Given the description of an element on the screen output the (x, y) to click on. 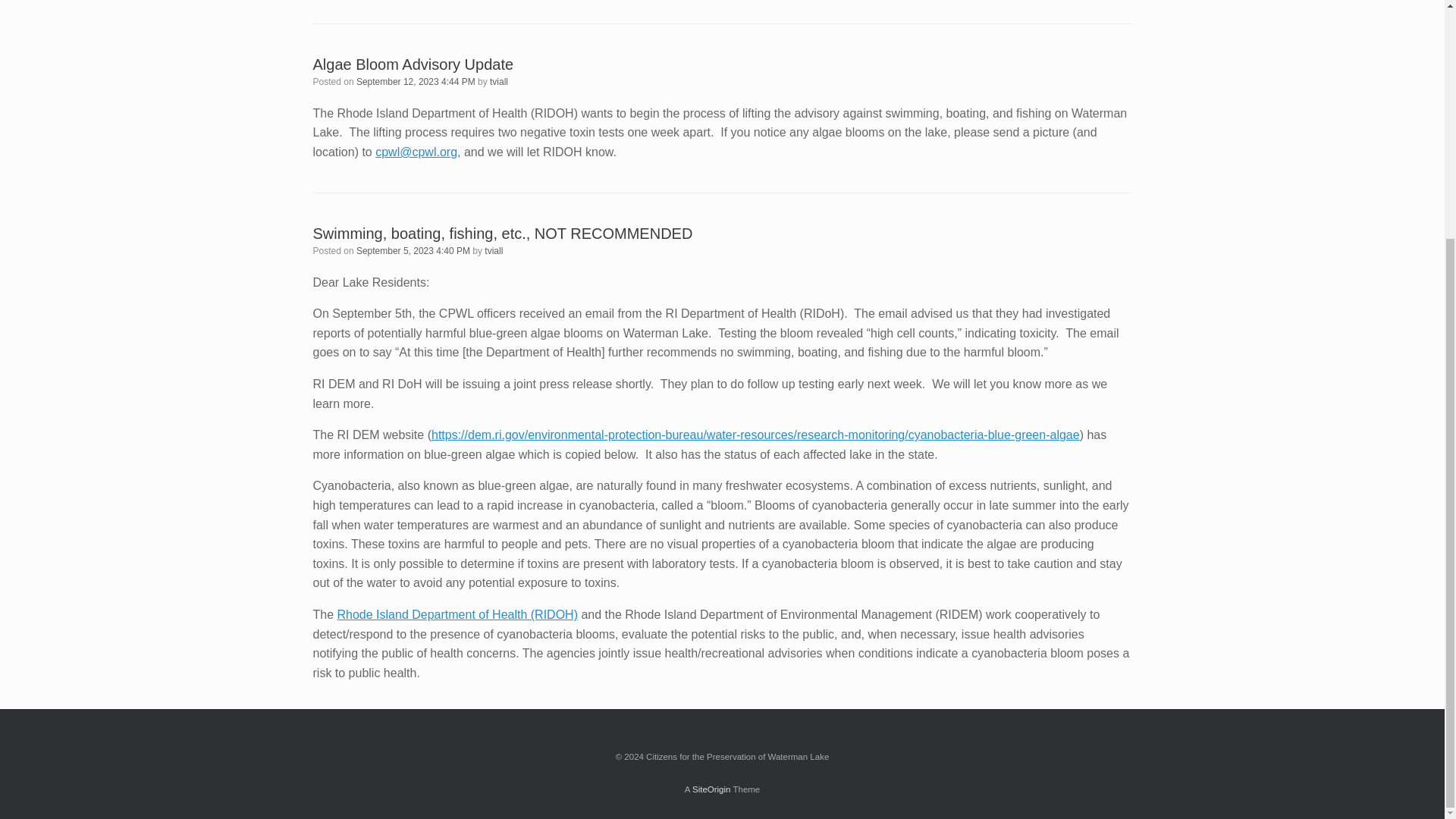
Swimming, boating, fishing, etc., NOT RECOMMENDED (503, 233)
tviall (498, 81)
tviall (493, 250)
4:40 PM (413, 250)
Permalink to Algae Bloom Advisory Update (413, 64)
View all posts by tviall (493, 250)
September 12, 2023 4:44 PM (416, 81)
View all posts by tviall (498, 81)
September 5, 2023 4:40 PM (413, 250)
4:44 PM (416, 81)
Algae Bloom Advisory Update (413, 64)
